Given the description of an element on the screen output the (x, y) to click on. 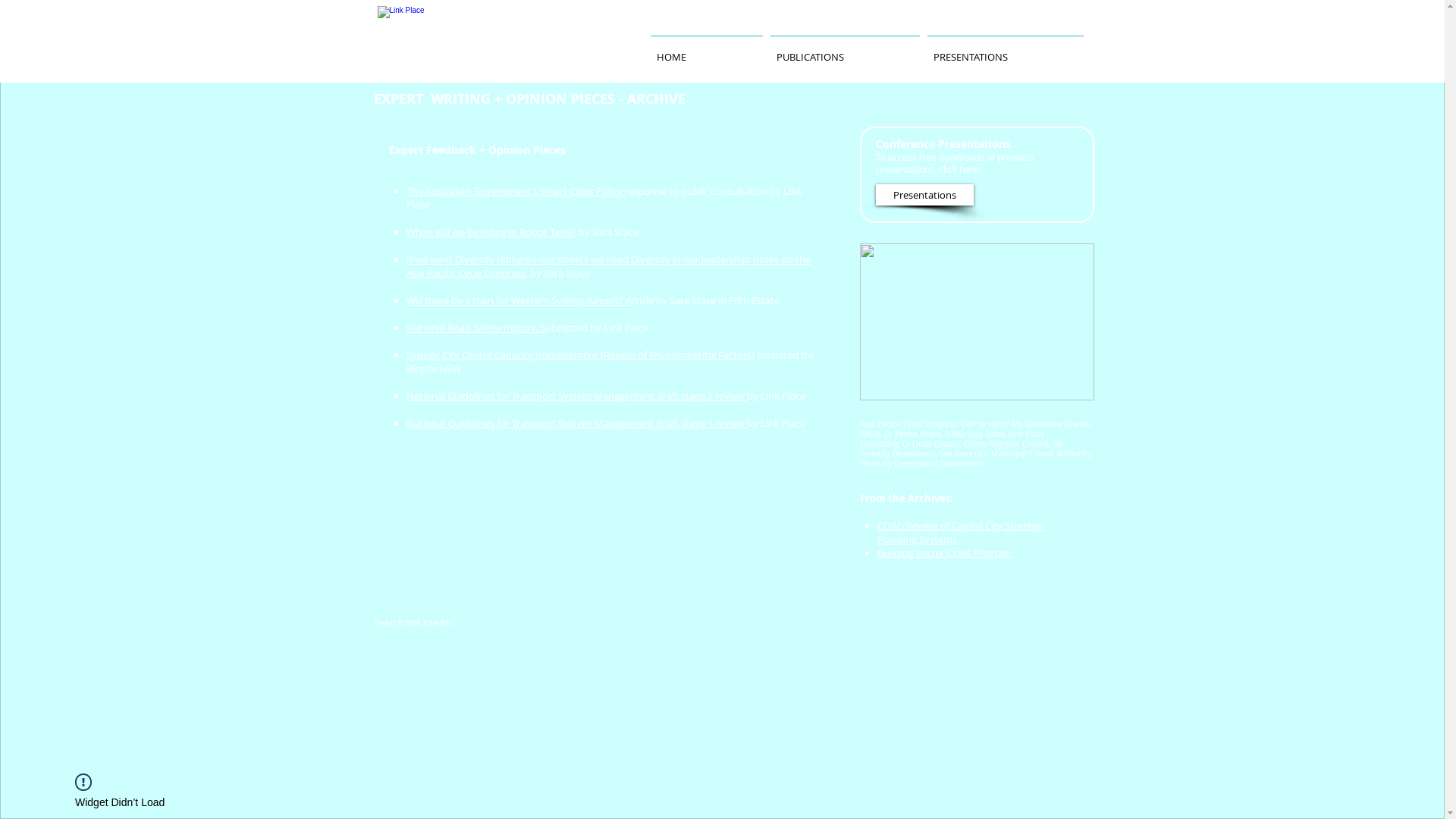
PRESENTATIONS Element type: text (1005, 49)
HOME Element type: text (705, 49)
Will there be a train for Western Sydney Airport? A Element type: text (518, 300)
National Road Safety Inquiry. S Element type: text (475, 327)
Site Search Element type: hover (566, 622)
The Australian Government's Smart Cities Policy  Element type: text (515, 190)
COAG Review of Capital City Strategic Planning Systems Element type: text (960, 532)
ubmitted by Link Place Element type: text (596, 327)
Building Better Cities Program Element type: text (944, 552)
When will we be riding in Robot Taxis? Element type: text (491, 231)
Presentations Element type: text (923, 194)
PUBLICATIONS Element type: text (843, 49)
